Given the description of an element on the screen output the (x, y) to click on. 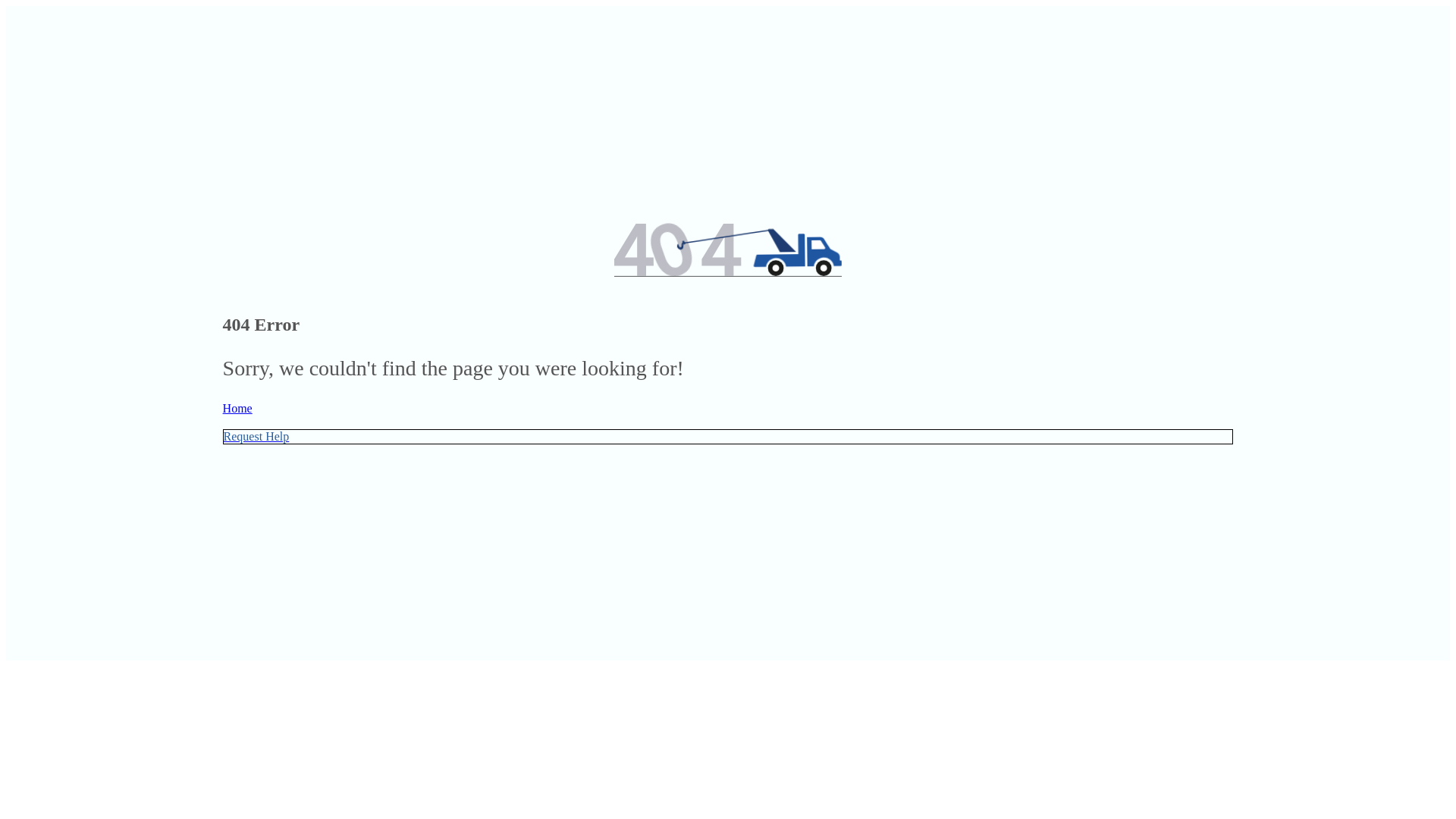
Request Help (727, 443)
Home (727, 415)
